Given the description of an element on the screen output the (x, y) to click on. 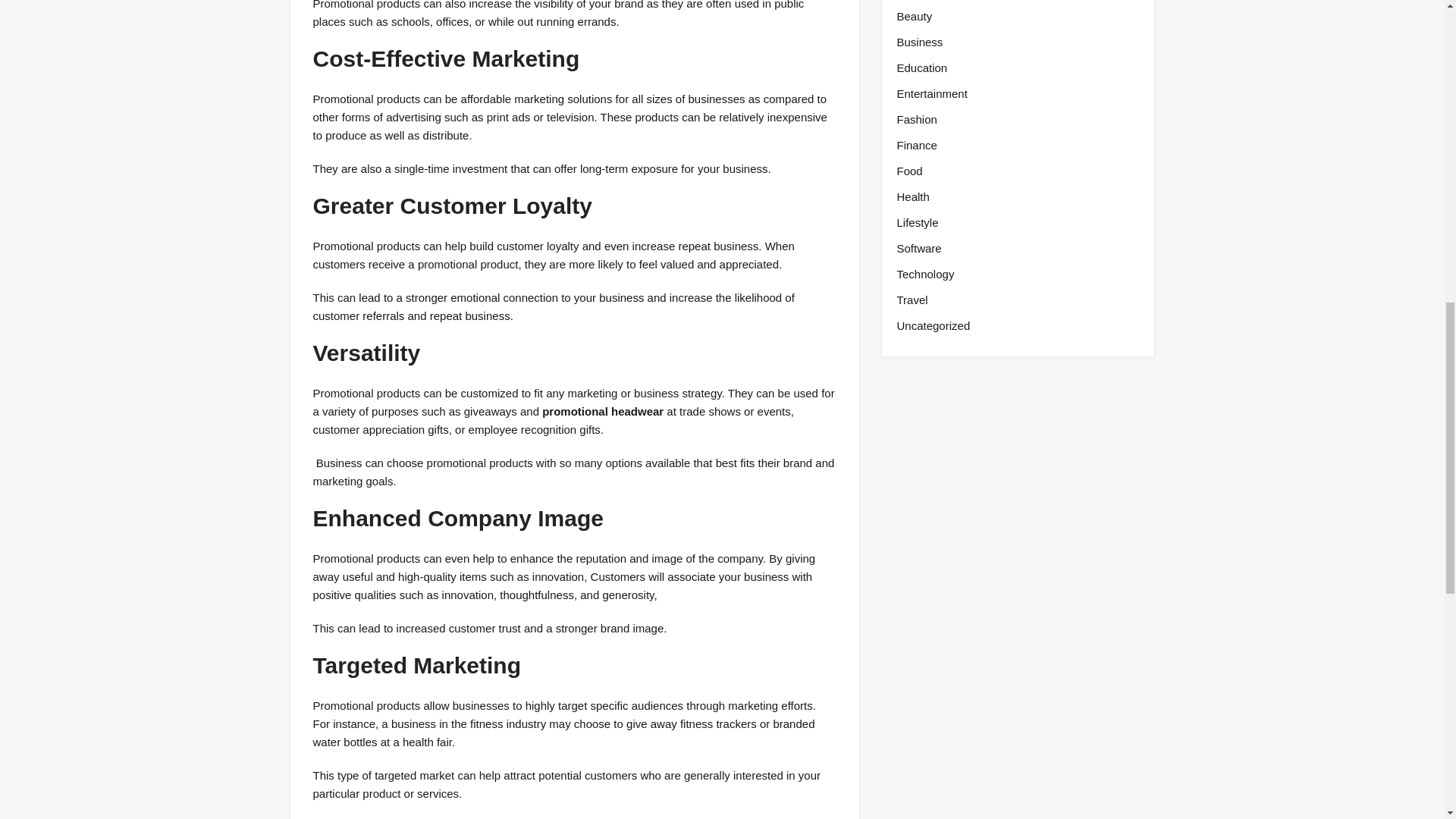
Business (919, 42)
Education (921, 67)
Food (908, 171)
Entertainment (931, 94)
Beauty (913, 16)
Fashion (916, 119)
Finance (916, 145)
